Given the description of an element on the screen output the (x, y) to click on. 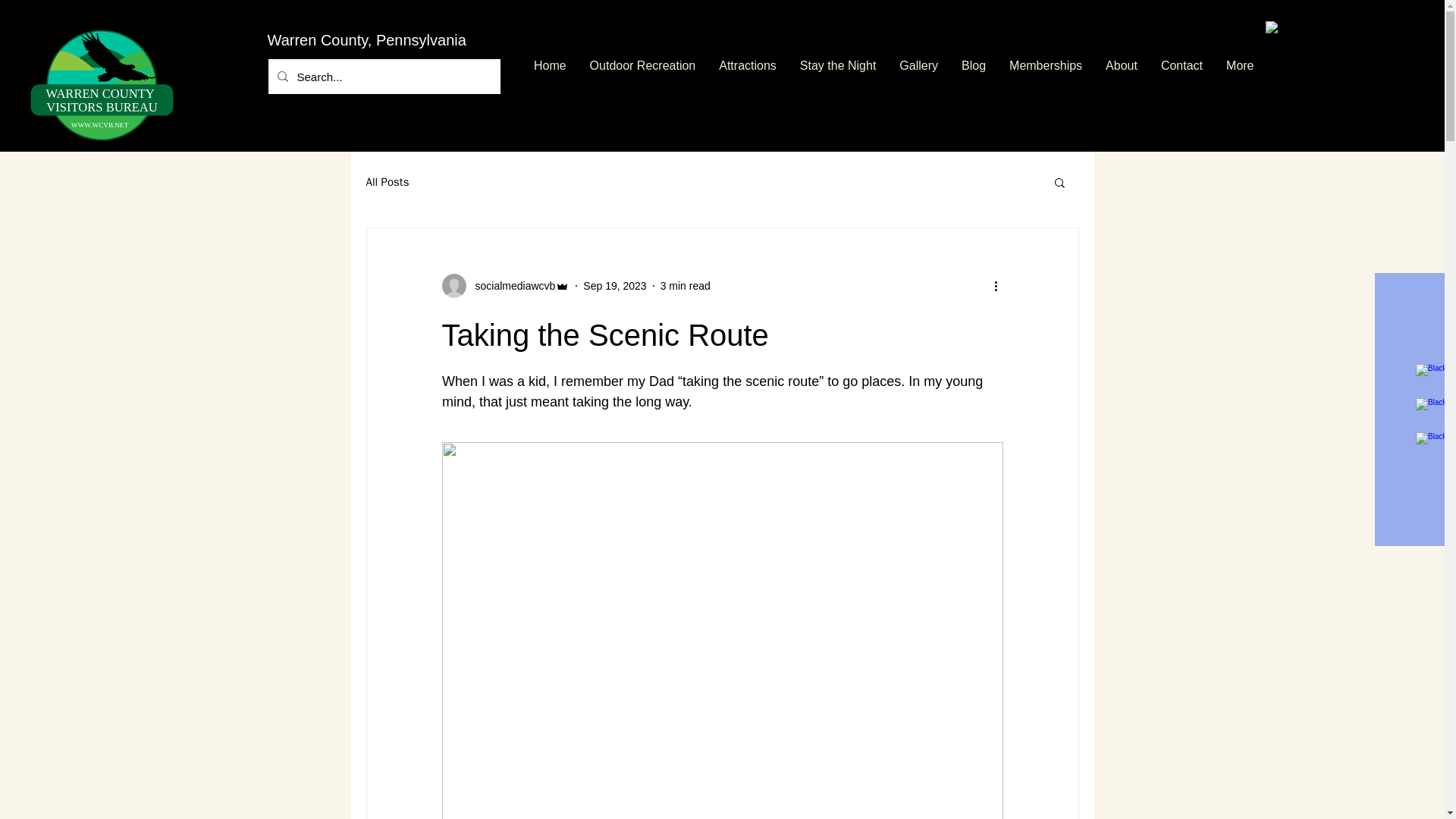
socialmediawcvb (505, 285)
About (1121, 76)
Contact (1182, 76)
Blog (973, 76)
Warren County, Pennsylvania (402, 40)
Sep 19, 2023 (102, 81)
All Posts (614, 285)
Outdoor Recreation (387, 181)
Memberships (642, 76)
